Given the description of an element on the screen output the (x, y) to click on. 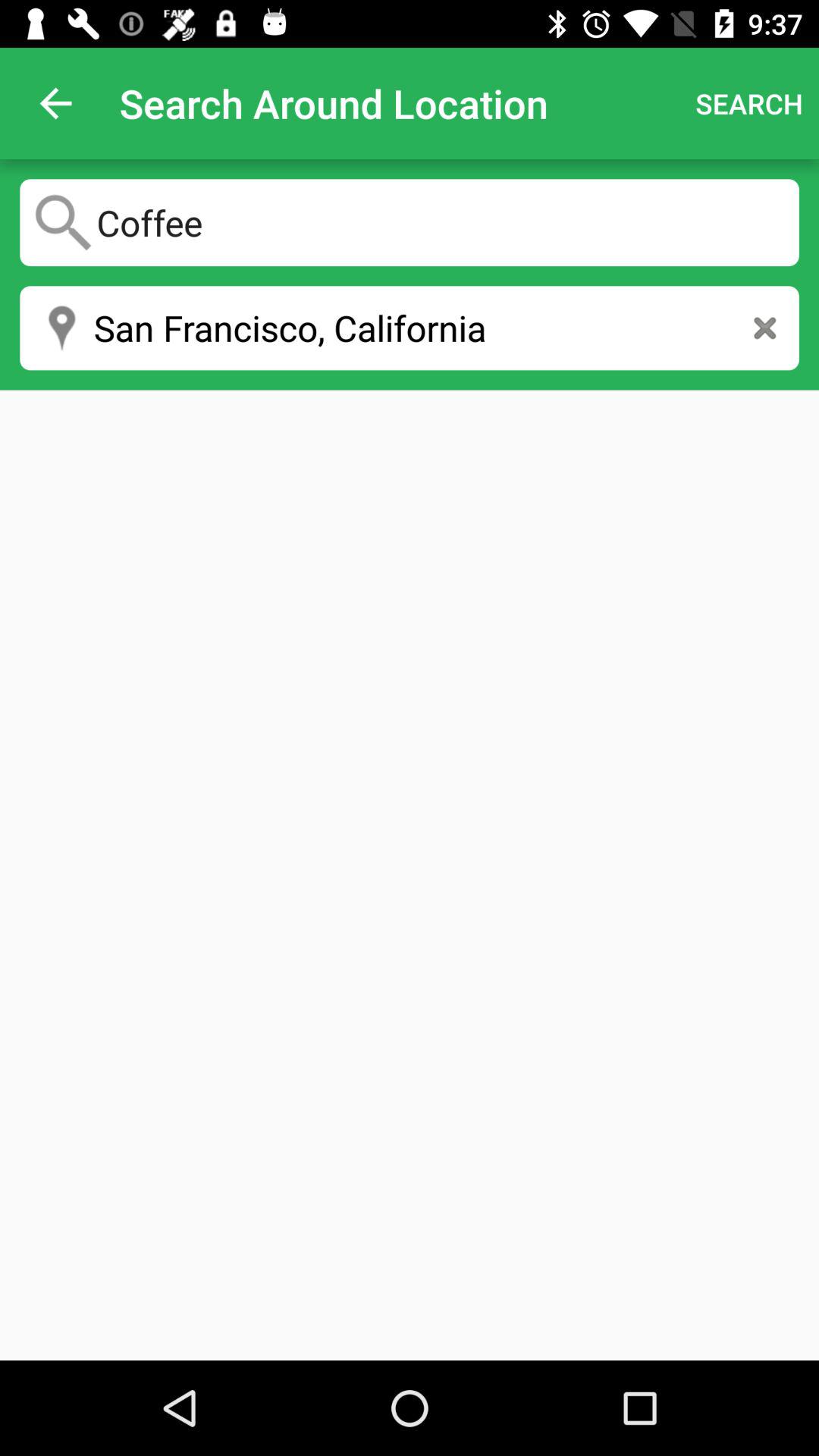
select icon below the san francisco, california (409, 875)
